Given the description of an element on the screen output the (x, y) to click on. 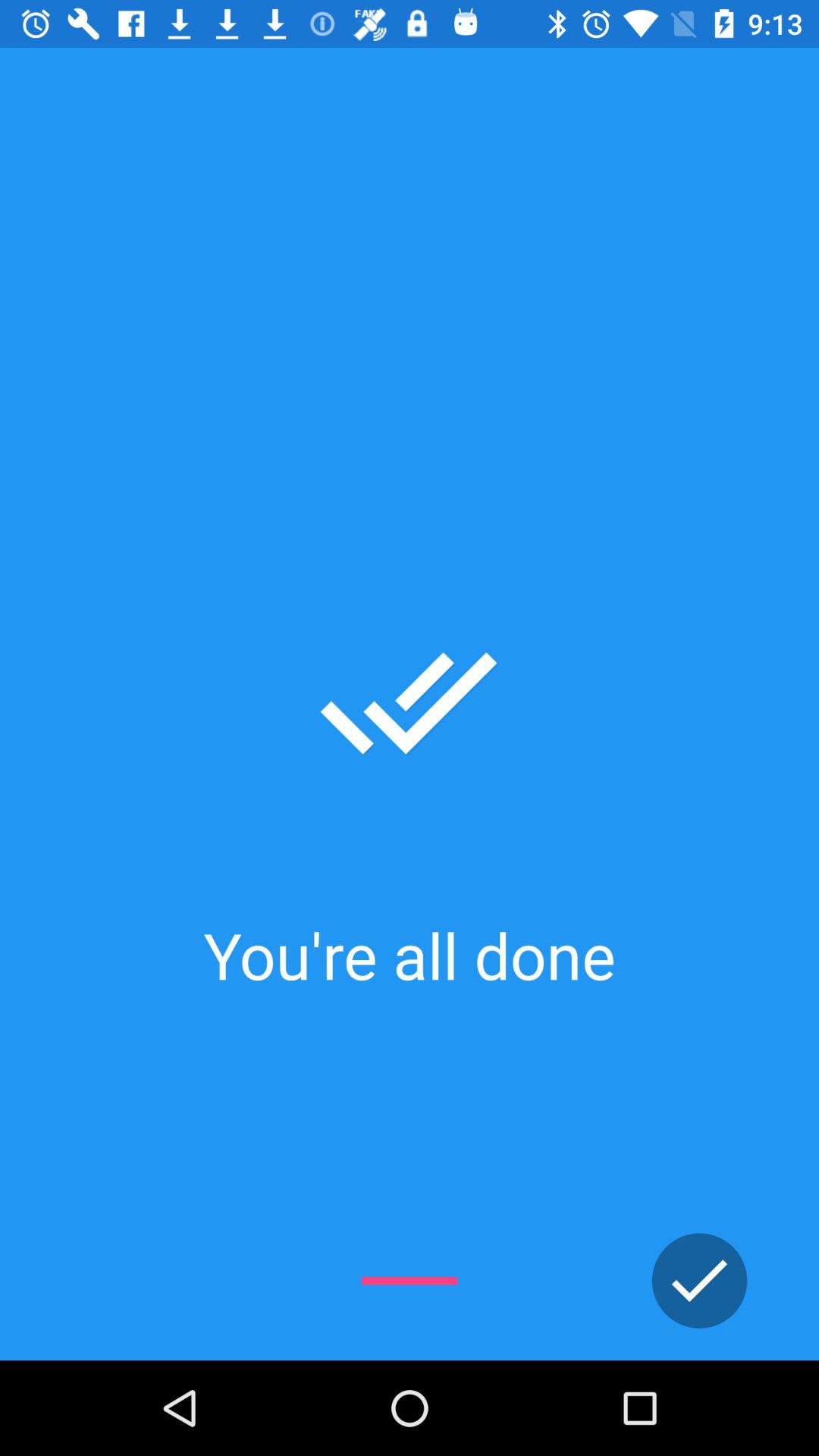
click to close and/or continue (699, 1280)
